Given the description of an element on the screen output the (x, y) to click on. 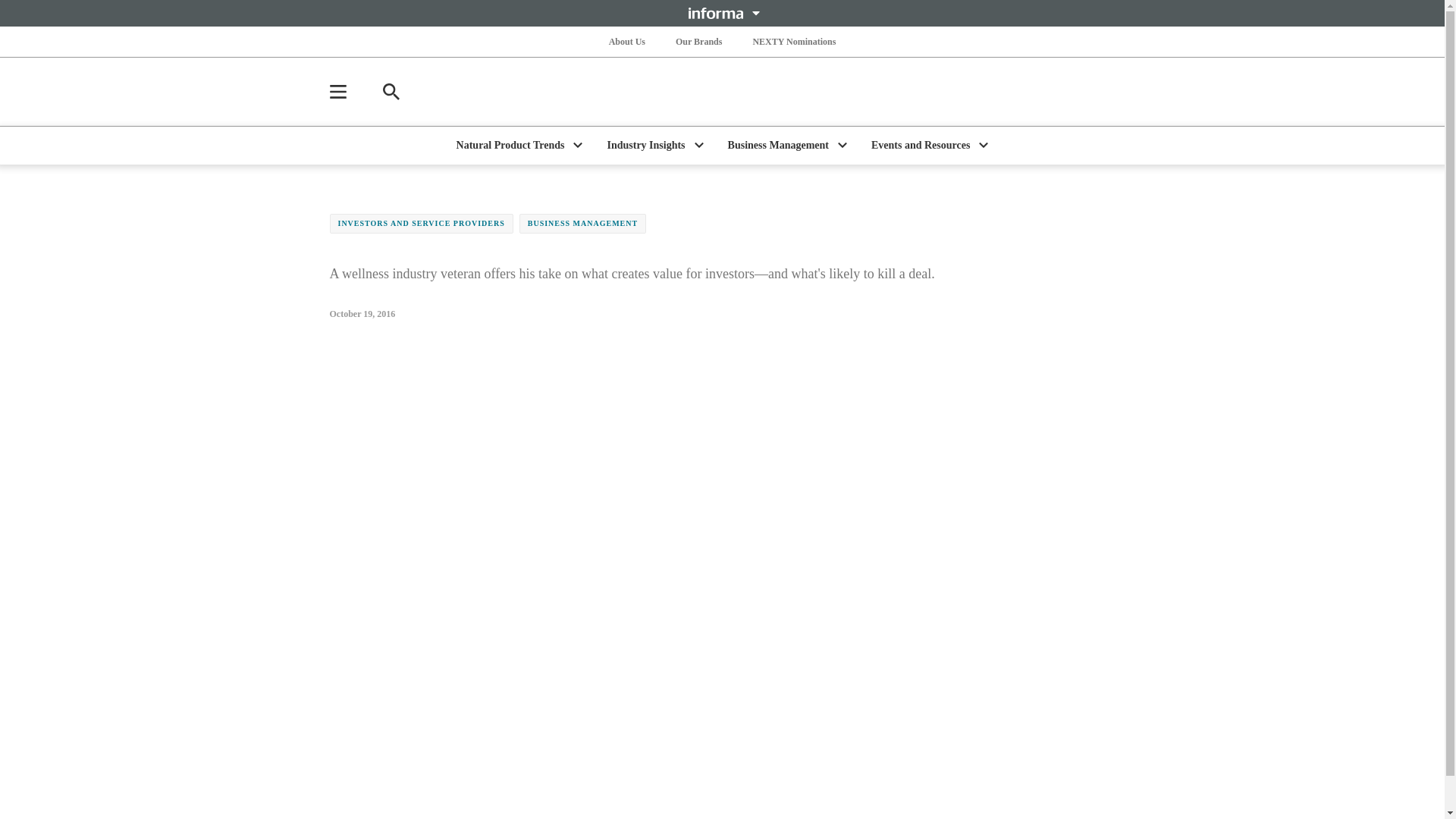
About Us (626, 41)
NEXTY Nominations (793, 41)
Our Brands (698, 41)
